Given the description of an element on the screen output the (x, y) to click on. 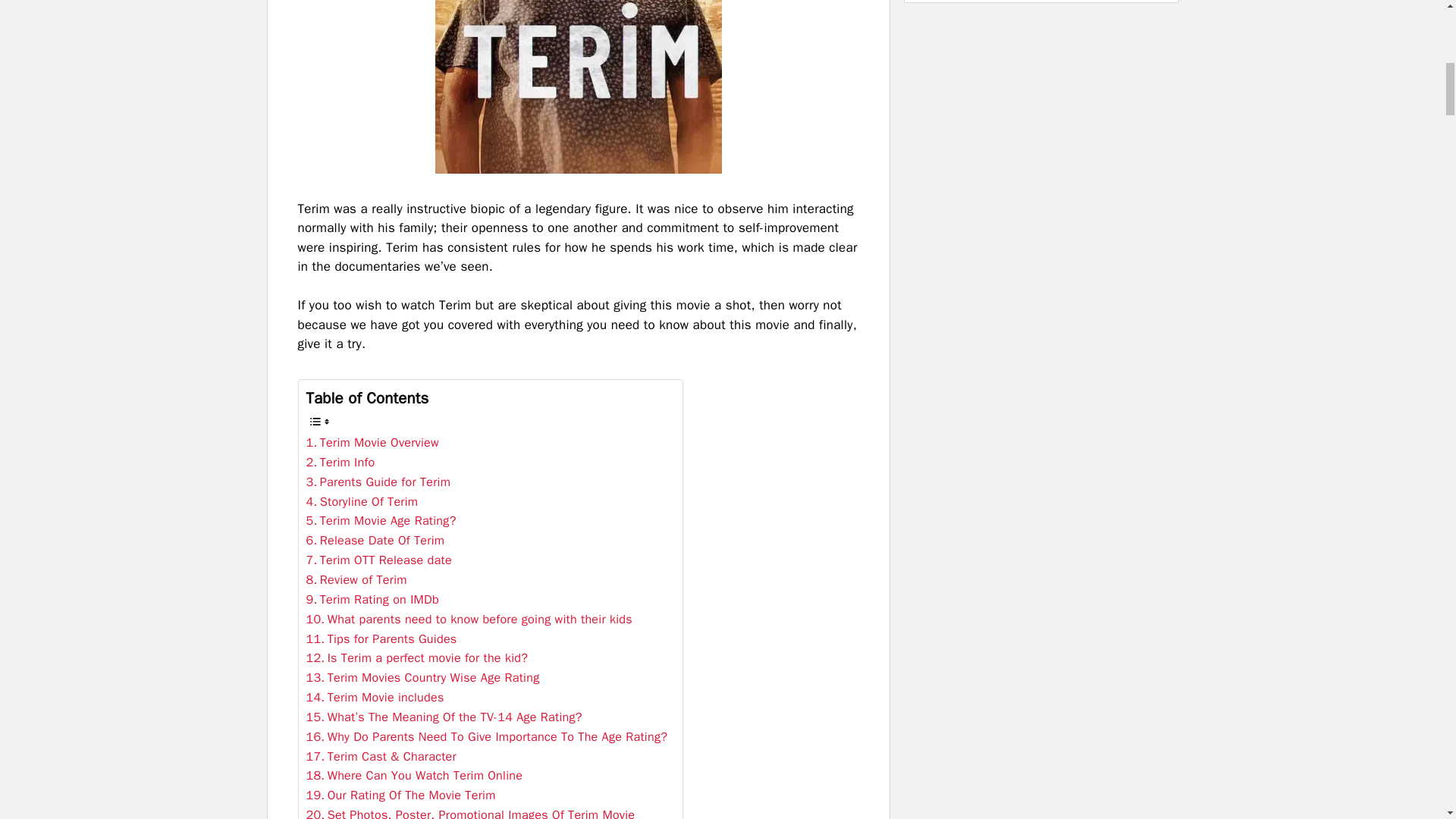
Storyline Of Terim (362, 501)
Terim Info (340, 462)
Review of Terim (356, 579)
Terim Rating on IMDb (372, 599)
Release Date Of Terim (375, 540)
Terim Movie Overview (372, 442)
Terim Movie Age Rating? (381, 520)
What parents need to know before going with their kids (468, 619)
Terim OTT Release date (378, 560)
Parents Guide for Terim (378, 482)
